Given the description of an element on the screen output the (x, y) to click on. 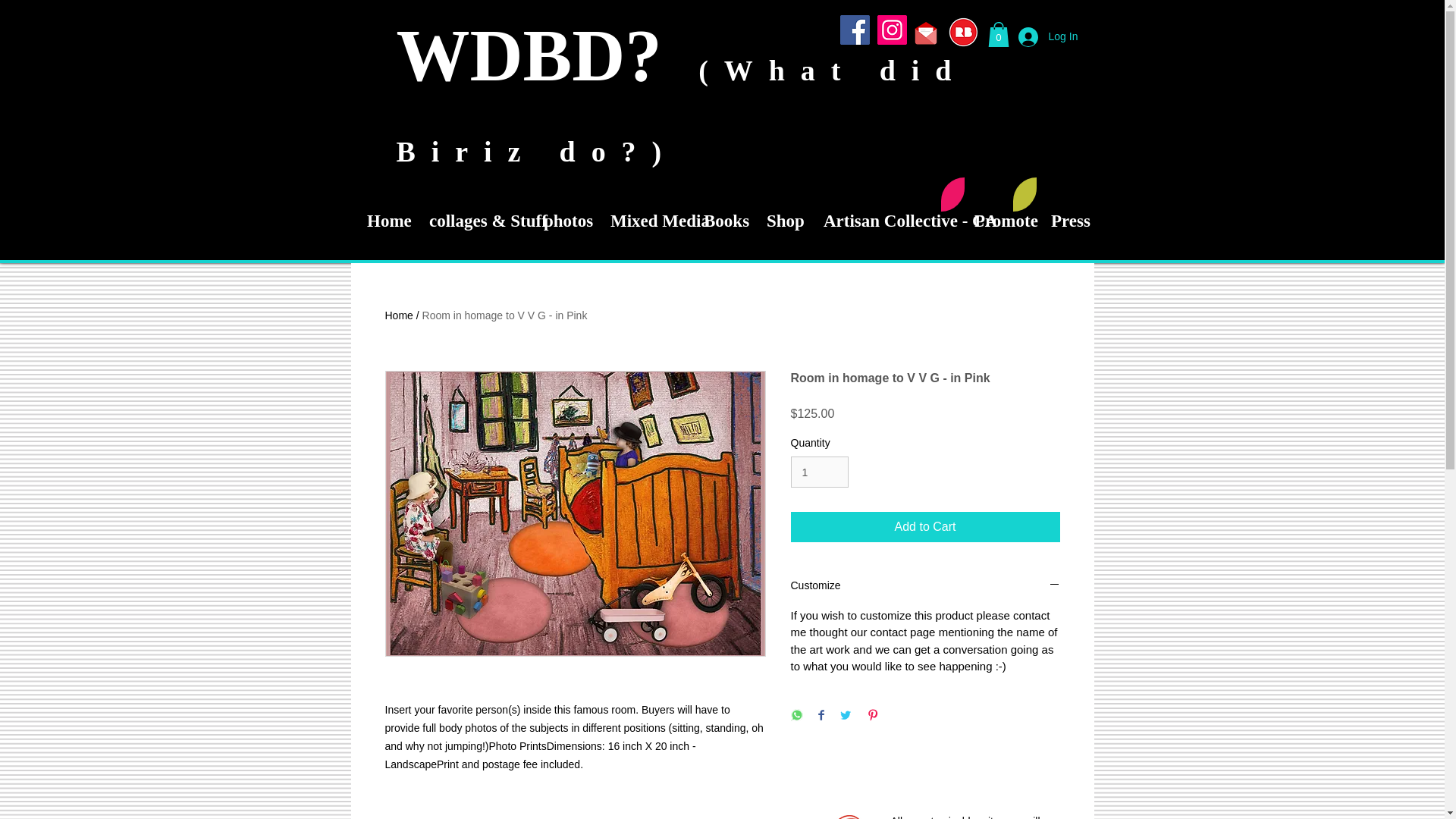
Artisan Collective - CA (882, 221)
Customize (924, 586)
Promote (996, 221)
1 (818, 471)
photos (560, 221)
Log In (1037, 36)
Home (399, 315)
Room in homage to V V G - in Pink (505, 315)
Add to Cart (924, 526)
Mixed Media (640, 221)
Books (718, 221)
Home (381, 221)
